Given the description of an element on the screen output the (x, y) to click on. 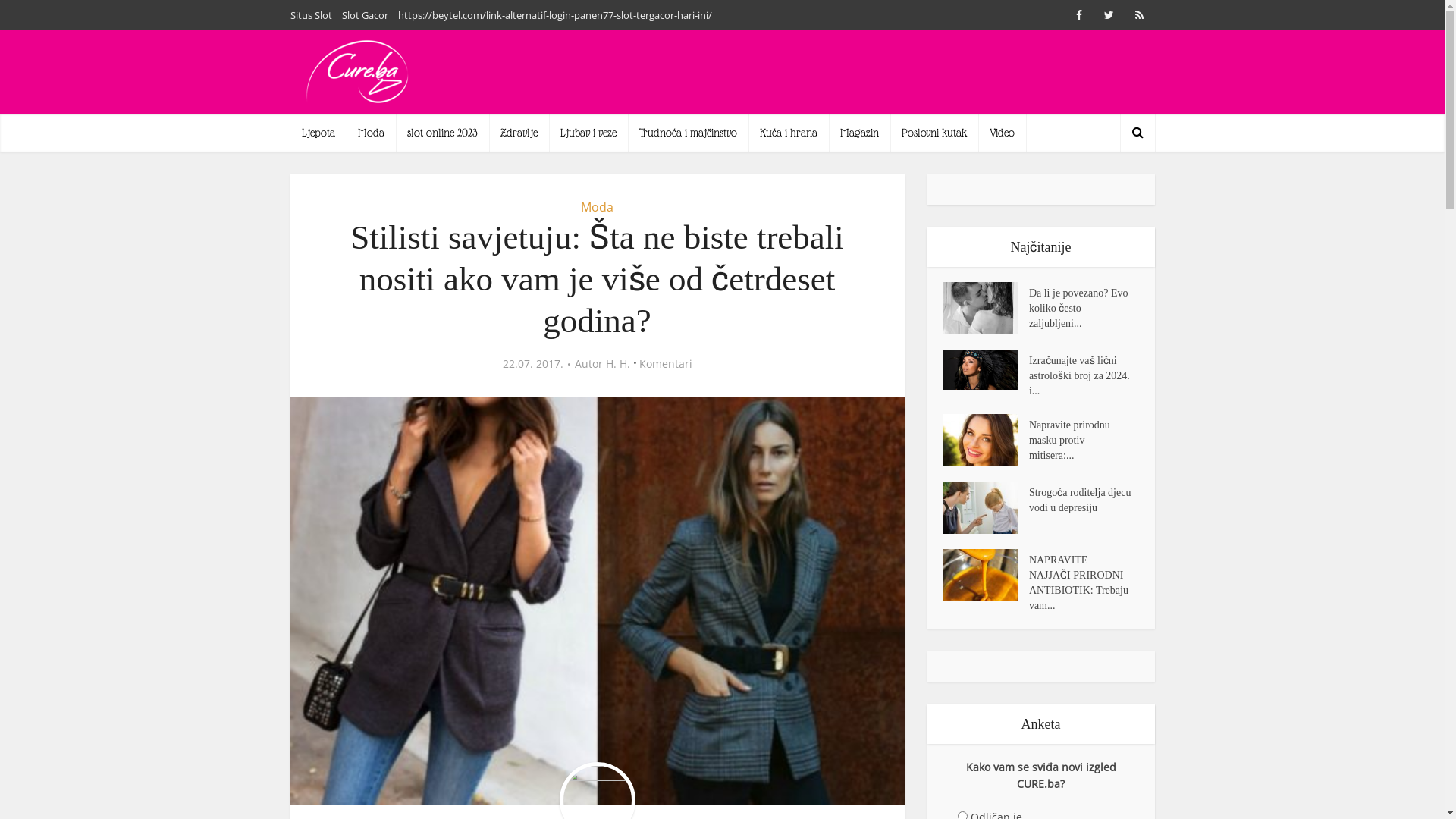
Napravite prirodnu masku protiv mitisera:... Element type: text (1084, 438)
Komentari Element type: text (664, 363)
Video Element type: text (1002, 132)
Situs Slot Element type: text (310, 14)
Ljepota Element type: text (317, 132)
Moda Element type: text (596, 206)
Zdravlje Element type: text (518, 132)
Magazin Element type: text (858, 132)
Moda Element type: text (370, 132)
Ljubav i veze Element type: text (588, 132)
Poslovni kutak Element type: text (934, 132)
H. H. Element type: text (617, 363)
CURE.ba Element type: hover (357, 71)
Slot Gacor Element type: text (364, 14)
slot online 2023 Element type: text (442, 132)
